Given the description of an element on the screen output the (x, y) to click on. 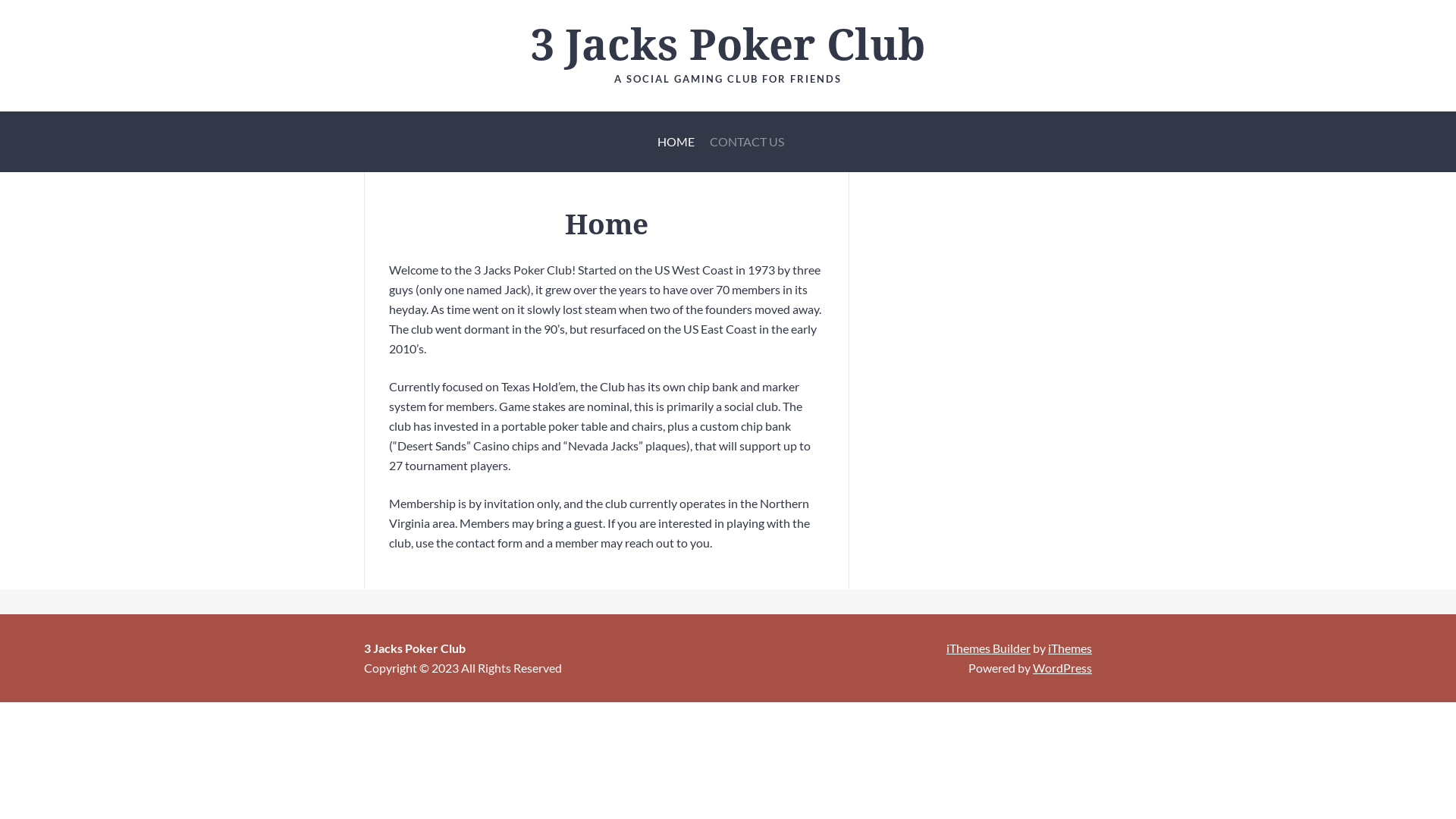
WordPress Element type: text (1062, 667)
iThemes Element type: text (1070, 647)
3 Jacks Poker Club Element type: text (727, 44)
CONTACT US Element type: text (746, 141)
A SOCIAL GAMING CLUB FOR FRIENDS Element type: text (727, 78)
iThemes Builder Element type: text (988, 647)
HOME Element type: text (674, 141)
